Given the description of an element on the screen output the (x, y) to click on. 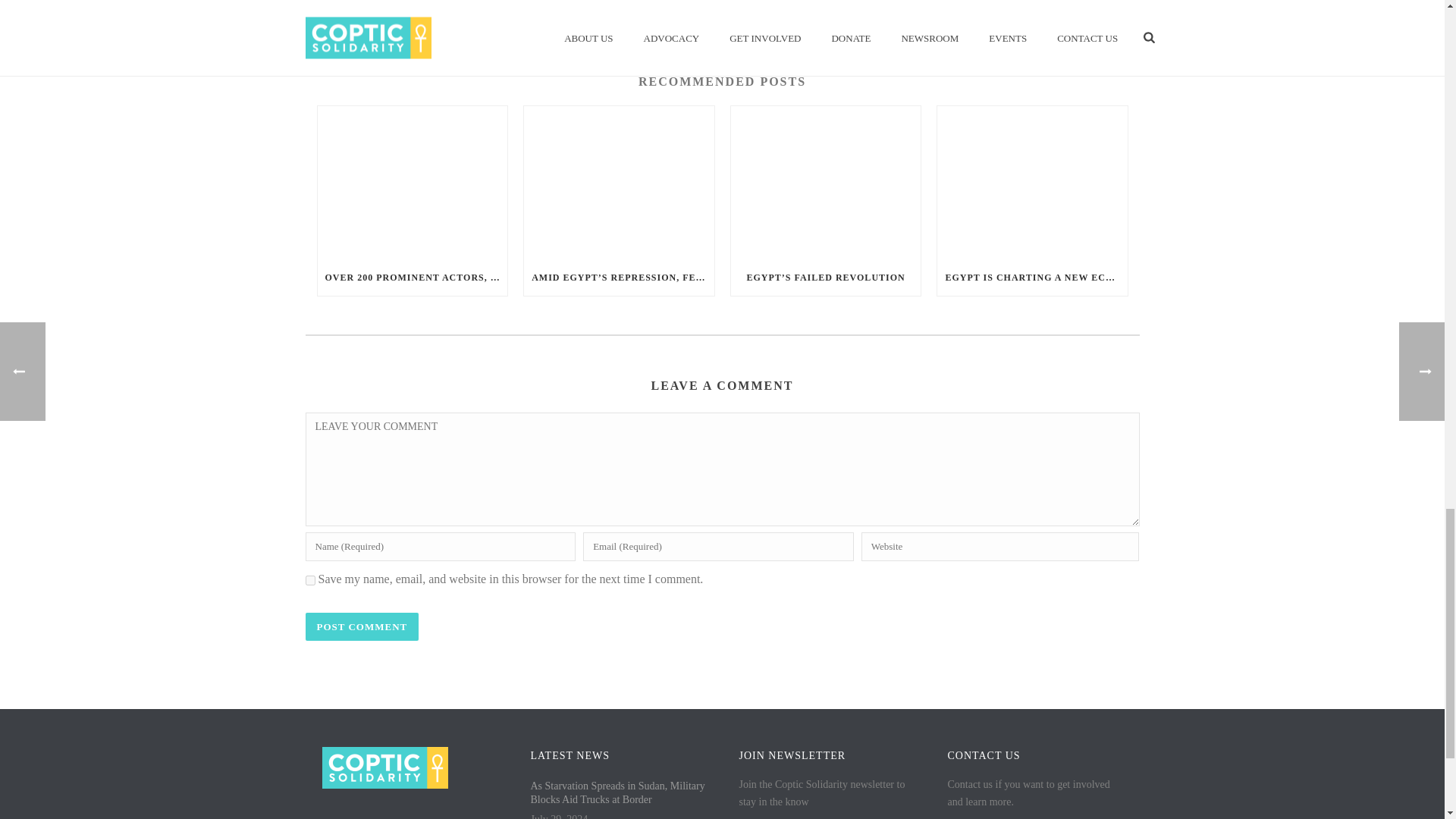
Get in touch with me via email (374, 4)
POST COMMENT (361, 626)
yes (309, 580)
Egypt Is Charting a New Economic Course (1031, 182)
